Given the description of an element on the screen output the (x, y) to click on. 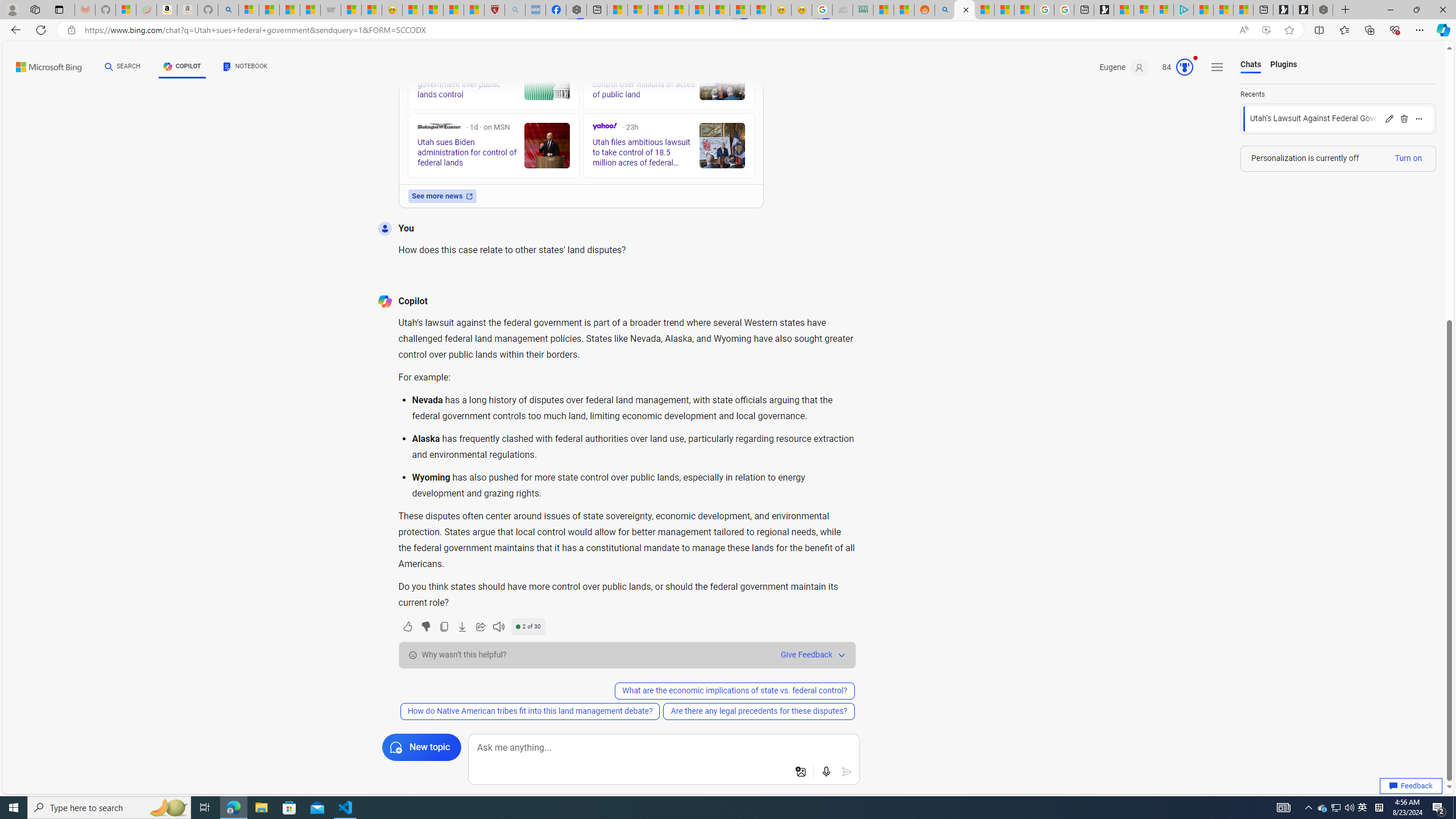
These 3 Stocks Pay You More Than 5% to Own Them (1242, 9)
Axios Salt Lake City on MSN (421, 58)
Use microphone (826, 771)
Load chat (1337, 118)
Are there any legal precedents for these disputes? (758, 710)
Export (461, 626)
Chats (1250, 65)
